Given the description of an element on the screen output the (x, y) to click on. 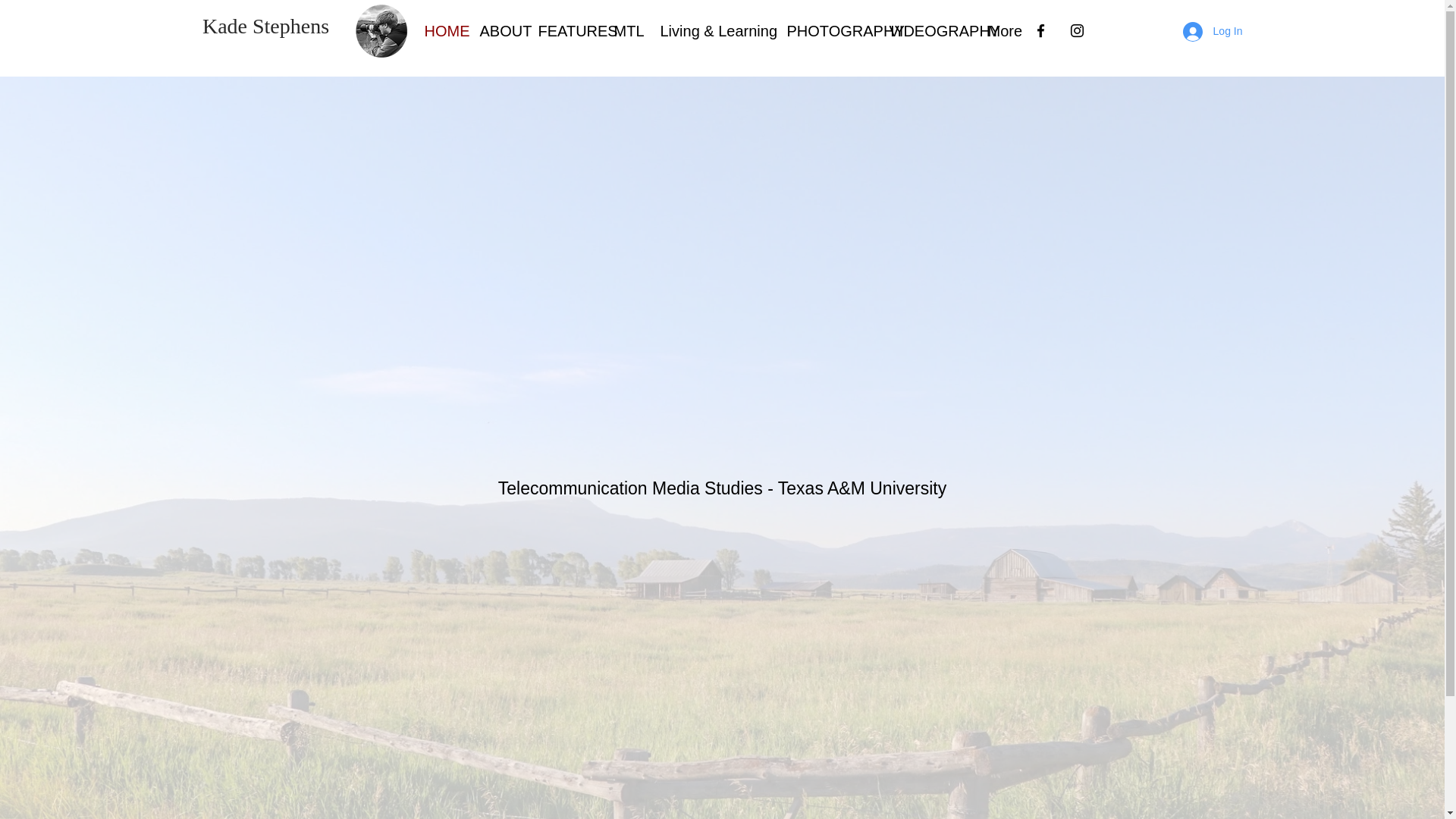
Log In (1212, 30)
ABOUT (497, 31)
PHOTOGRAPHY (825, 31)
communication  (590, 487)
Media Studies (707, 487)
VIDEOGRAPHY (926, 31)
Tele (513, 487)
MTL (624, 31)
FEATURES (563, 31)
HOME (439, 31)
